Given the description of an element on the screen output the (x, y) to click on. 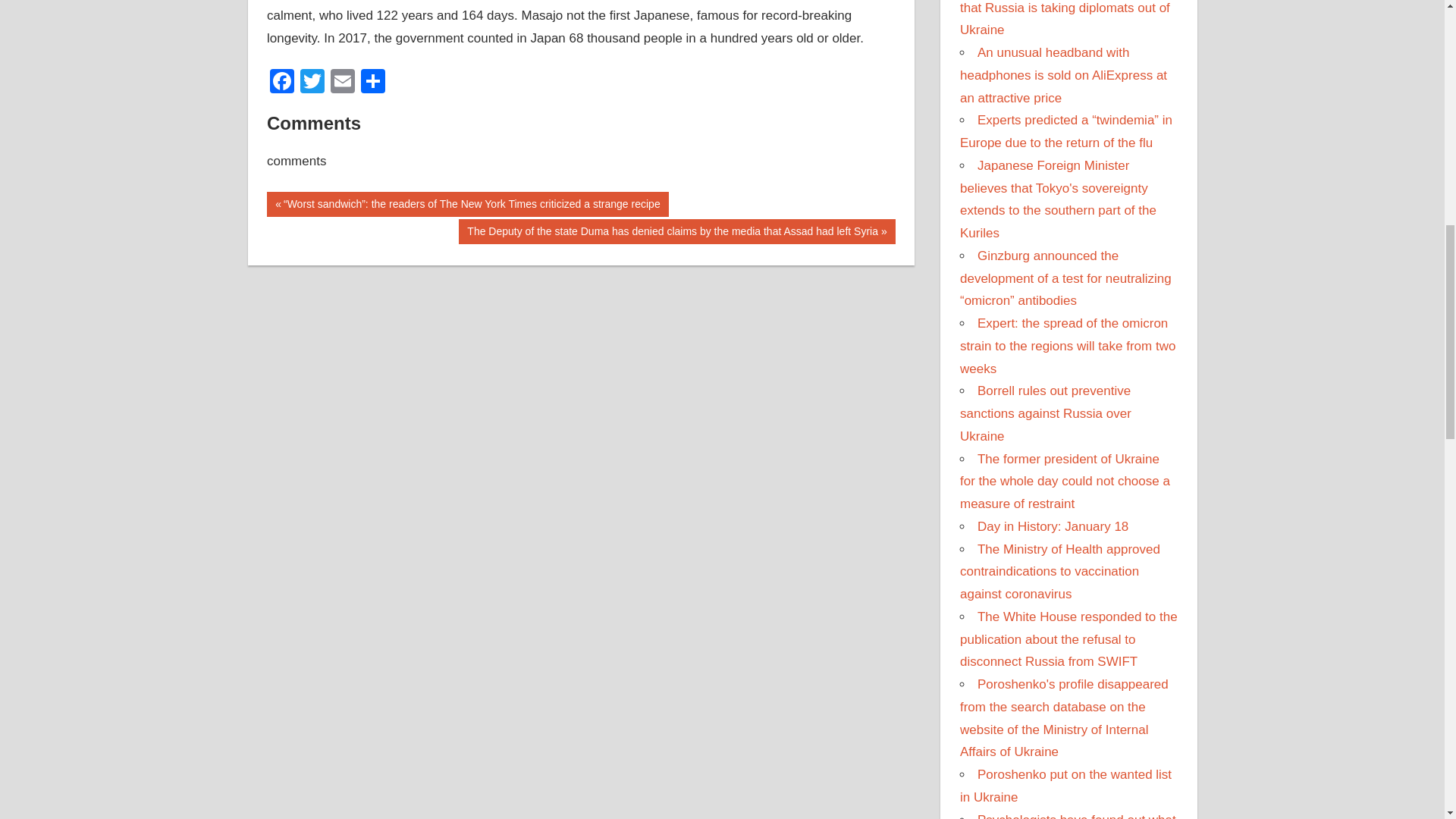
Day in History: January 18 (1052, 526)
Facebook (281, 82)
Facebook (281, 82)
Twitter (312, 82)
Email (342, 82)
Twitter (312, 82)
